Given the description of an element on the screen output the (x, y) to click on. 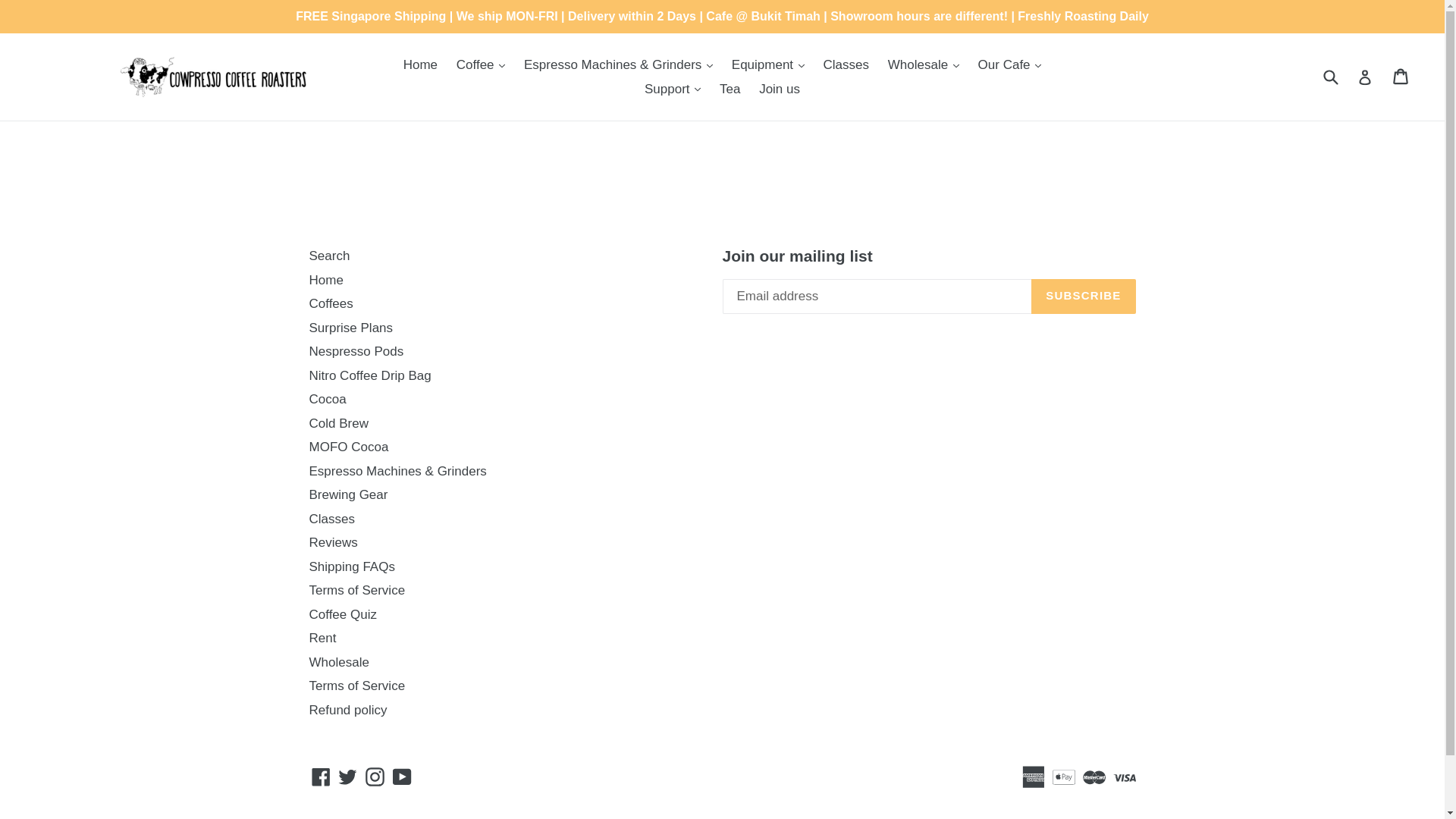
Cowpresso Coffee Roasters Singapore on Facebook (320, 775)
Cowpresso Coffee Roasters Singapore on YouTube (401, 775)
Cowpresso Coffee Roasters Singapore on Twitter (347, 775)
Cowpresso Coffee Roasters Singapore on Instagram (374, 775)
